Given the description of an element on the screen output the (x, y) to click on. 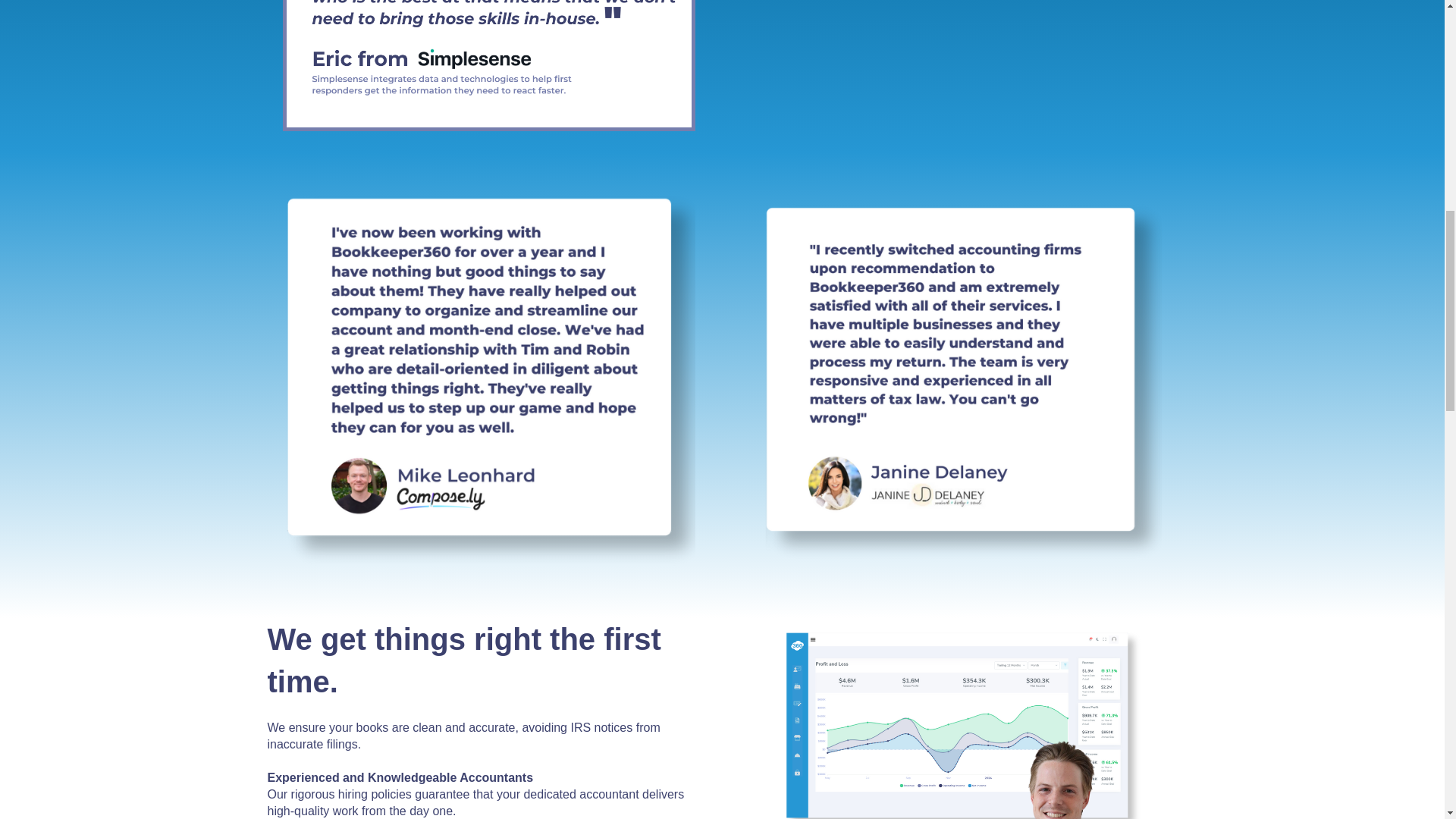
1-1 (963, 718)
undefined (955, 69)
